Given the description of an element on the screen output the (x, y) to click on. 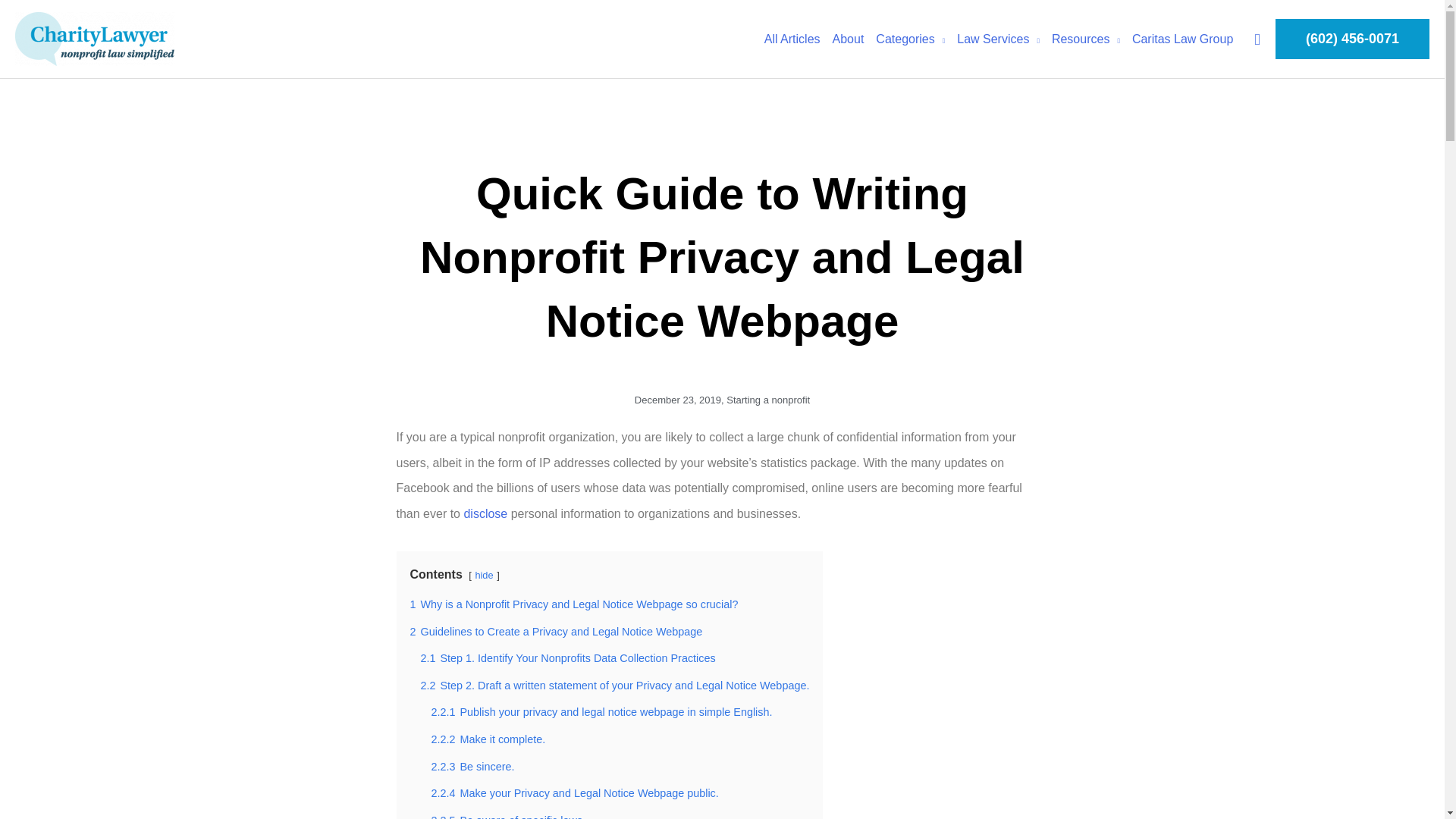
All Articles (792, 38)
Categories (909, 38)
Law Services (997, 38)
Resources (1085, 38)
